Given the description of an element on the screen output the (x, y) to click on. 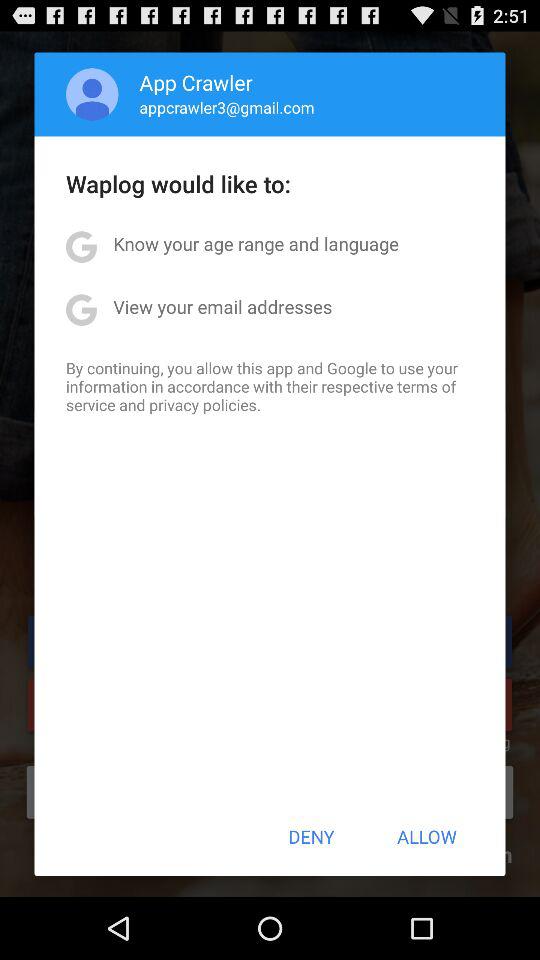
turn off the app below the waplog would like app (255, 243)
